Given the description of an element on the screen output the (x, y) to click on. 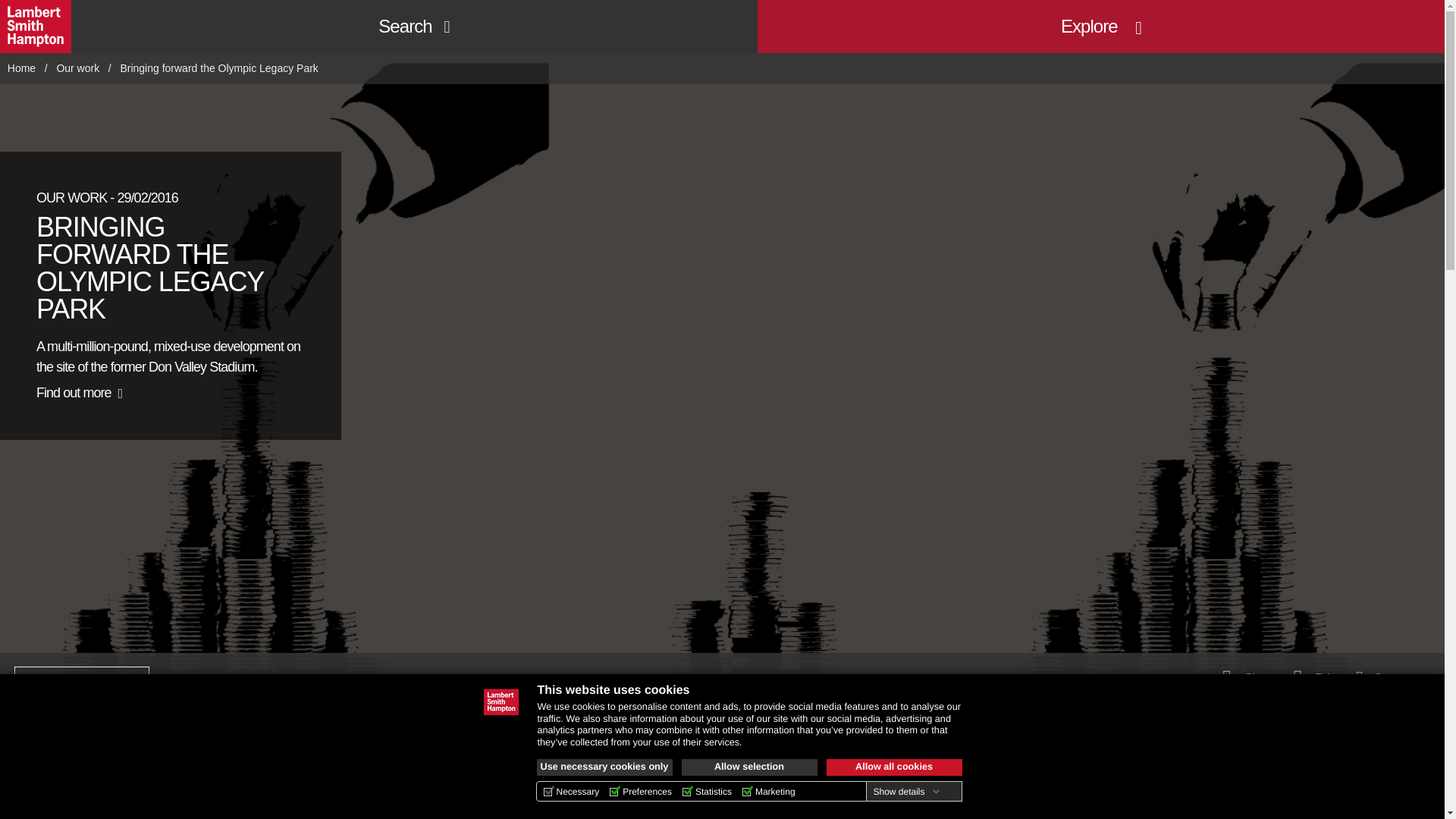
Use necessary cookies only (604, 767)
Allow selection (748, 767)
Find out more (79, 392)
Allow all cookies (894, 767)
Show details (905, 791)
